Given the description of an element on the screen output the (x, y) to click on. 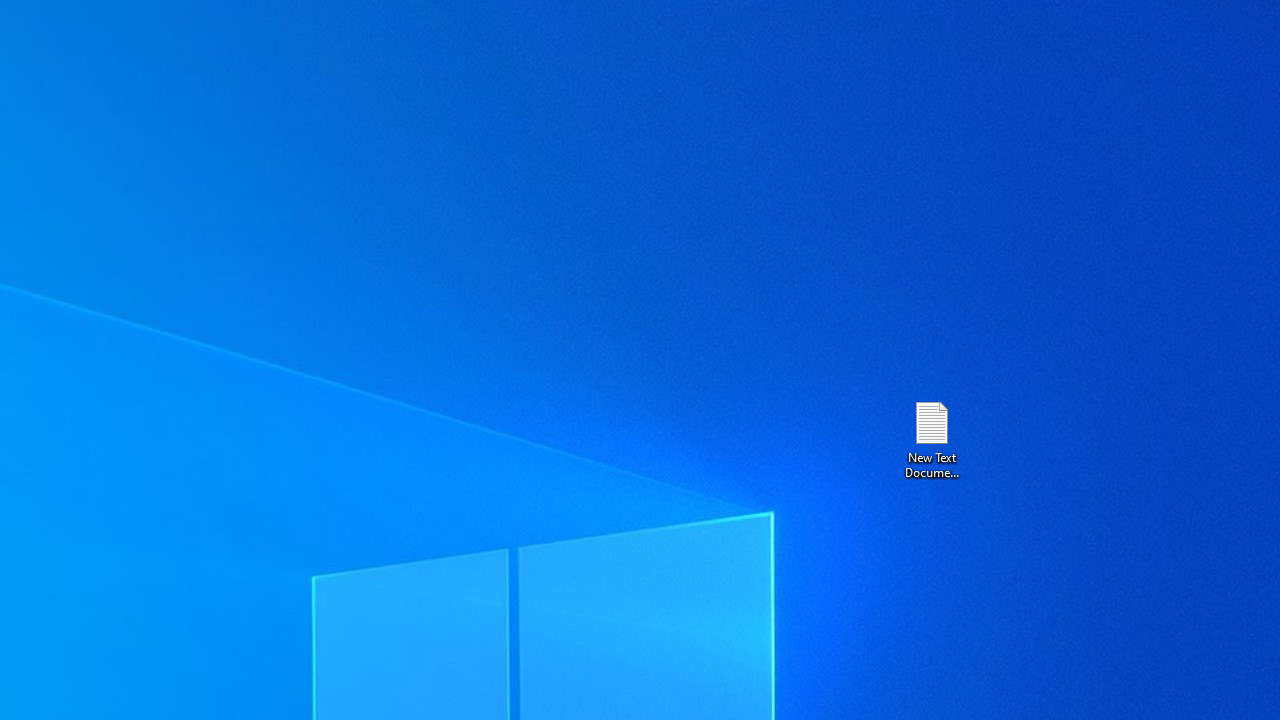
New Text Document (2) (931, 438)
